Given the description of an element on the screen output the (x, y) to click on. 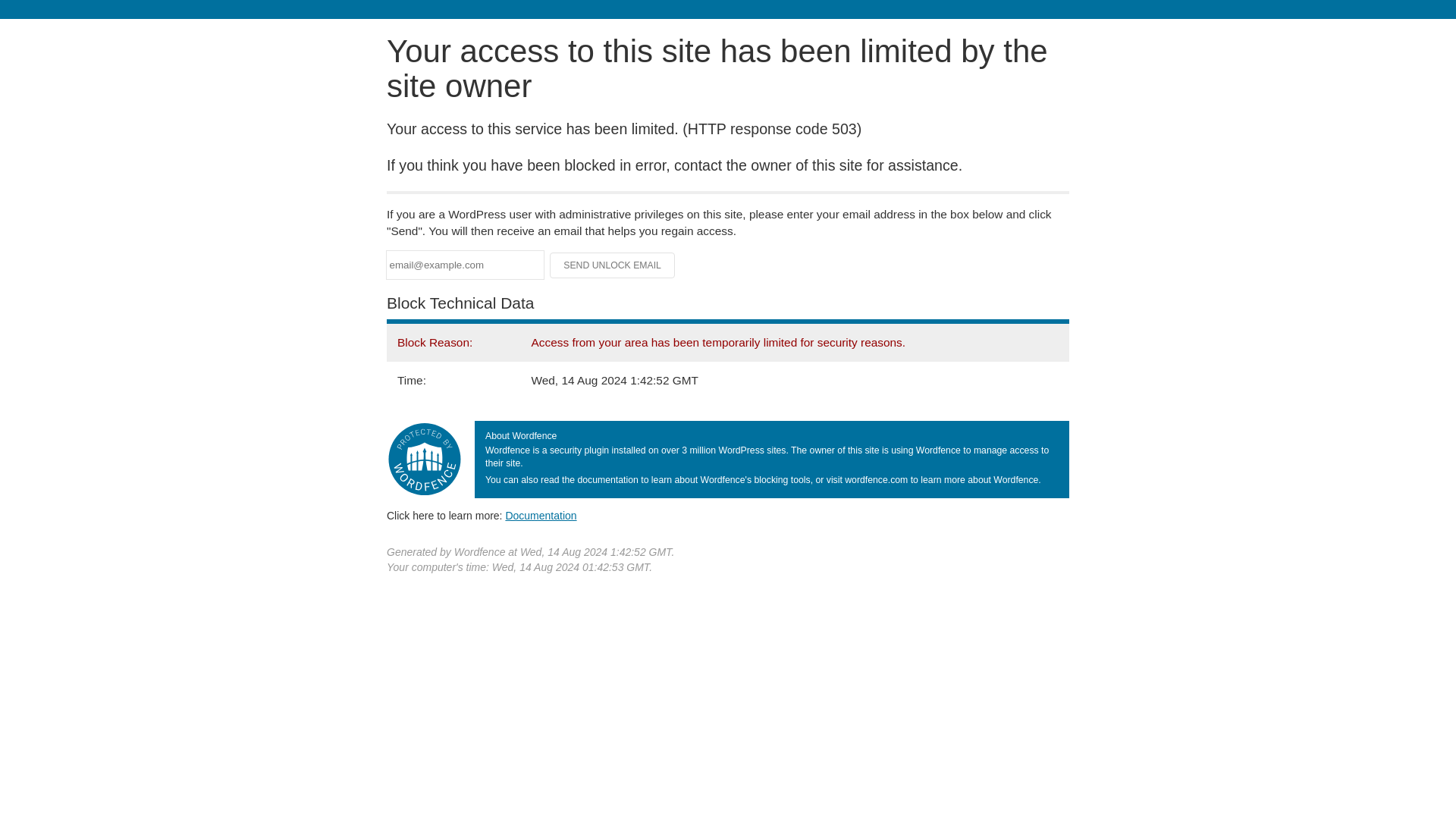
Documentation (540, 515)
Send Unlock Email (612, 265)
Send Unlock Email (612, 265)
